Given the description of an element on the screen output the (x, y) to click on. 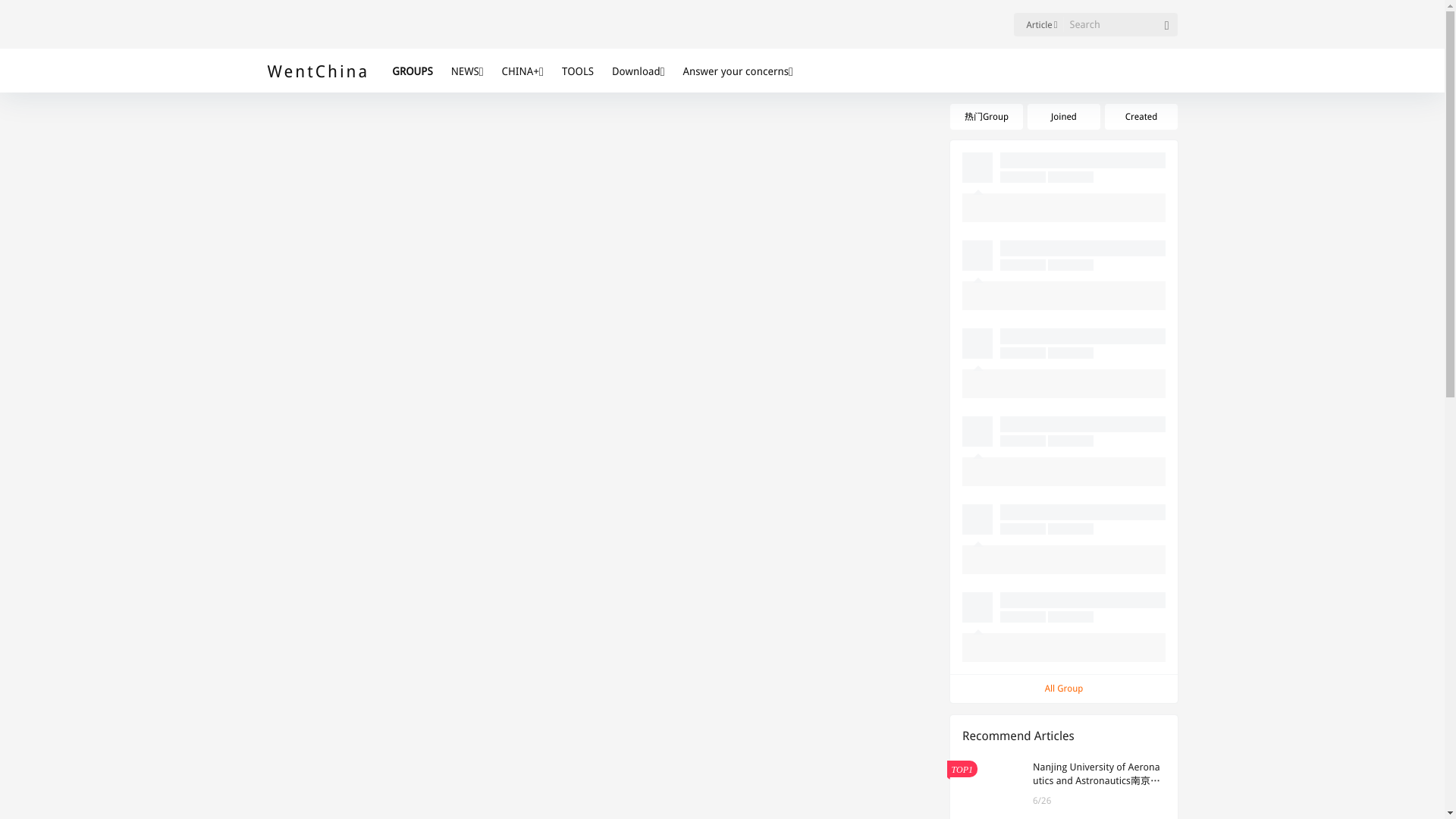
NEWS (467, 71)
Article (1037, 23)
GROUPS (416, 71)
WentChina (317, 71)
